Given the description of an element on the screen output the (x, y) to click on. 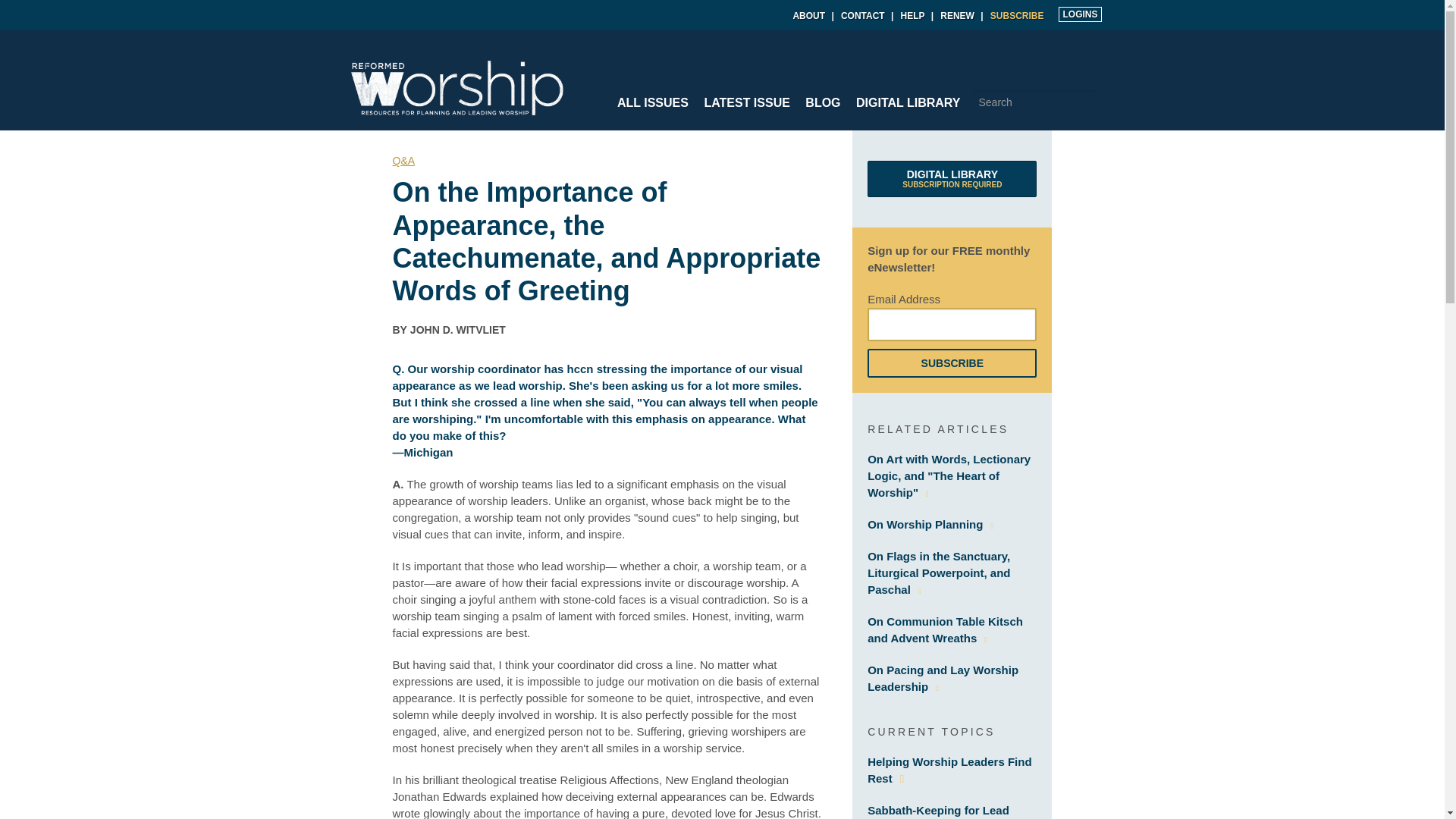
Sabbath-Keeping for Lead Worshipers (938, 811)
CONTACT (863, 15)
Subscribe (951, 362)
RENEW (957, 15)
DIGITAL LIBRARY (908, 102)
LATEST ISSUE (746, 102)
Enter the terms you wish to search for. (1032, 102)
ALL ISSUES (652, 102)
HELP (912, 15)
Helping Worship Leaders Find Rest (948, 769)
On Communion Table Kitsch and Advent Wreaths (945, 629)
Search (1082, 101)
